Given the description of an element on the screen output the (x, y) to click on. 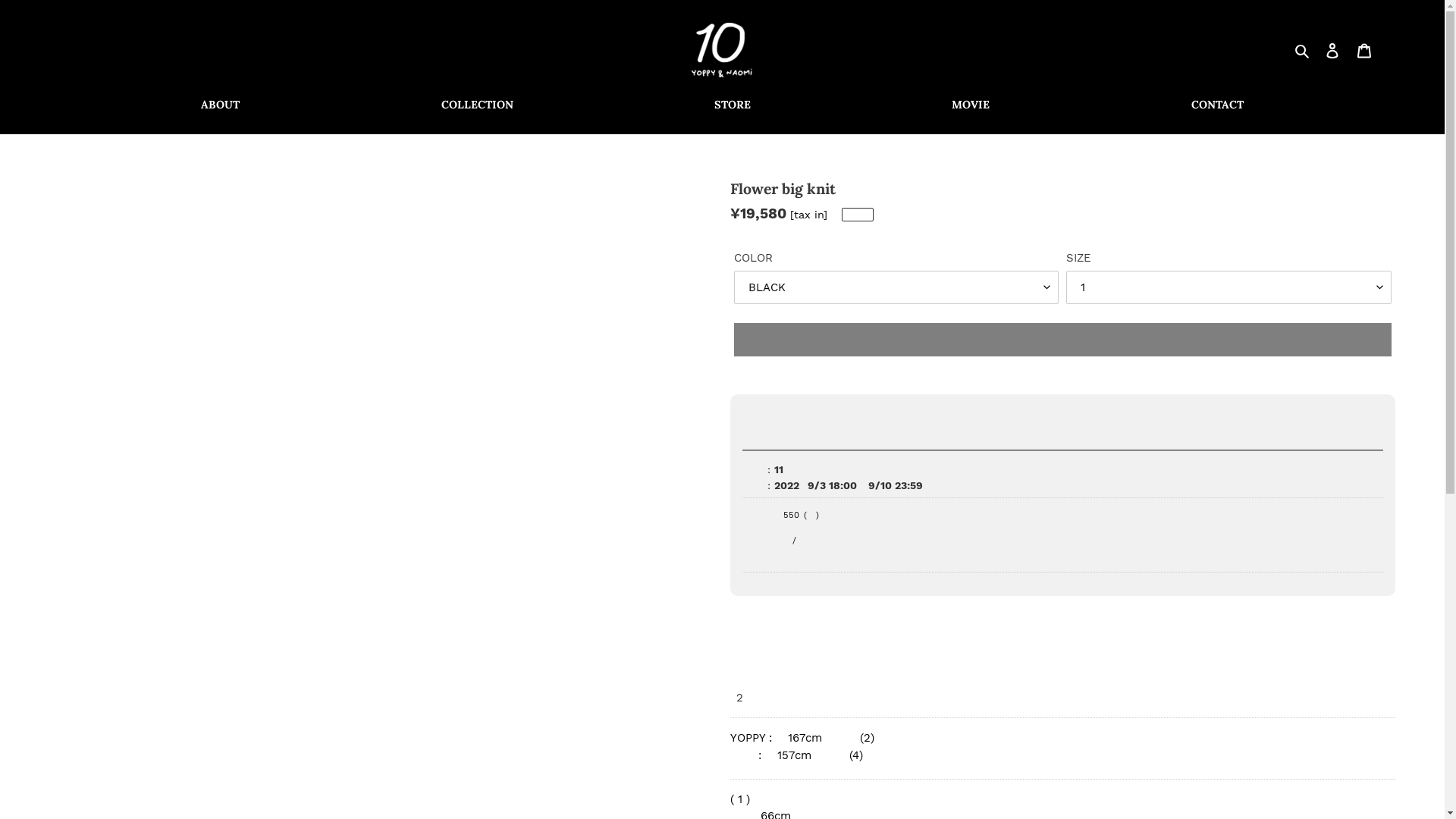
MOVIE Element type: text (970, 104)
CONTACT Element type: text (1217, 104)
STORE Element type: text (732, 104)
ABOUT Element type: text (220, 104)
COLLECTION Element type: text (476, 104)
